Given the description of an element on the screen output the (x, y) to click on. 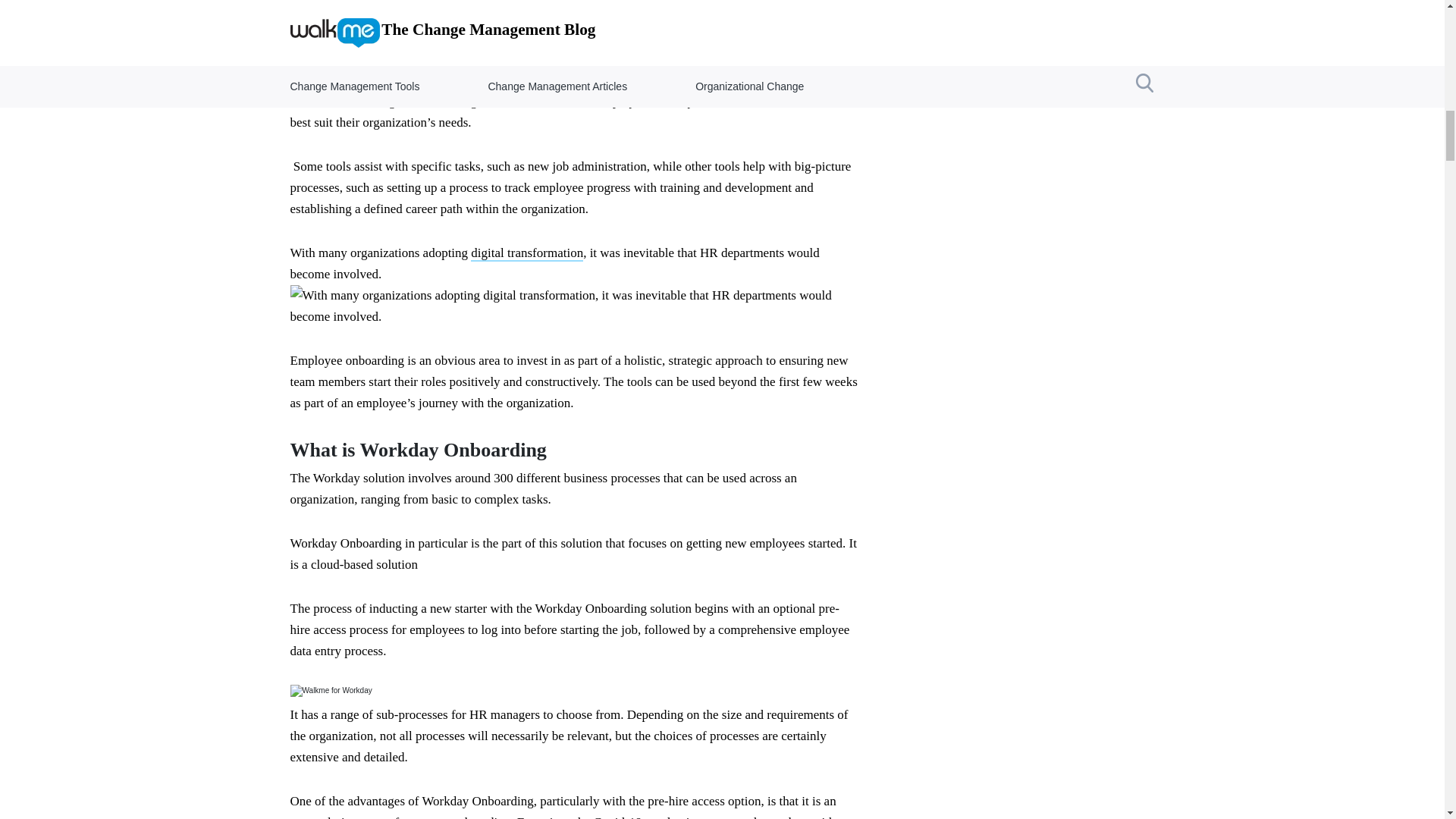
digital transformation (526, 253)
